Given the description of an element on the screen output the (x, y) to click on. 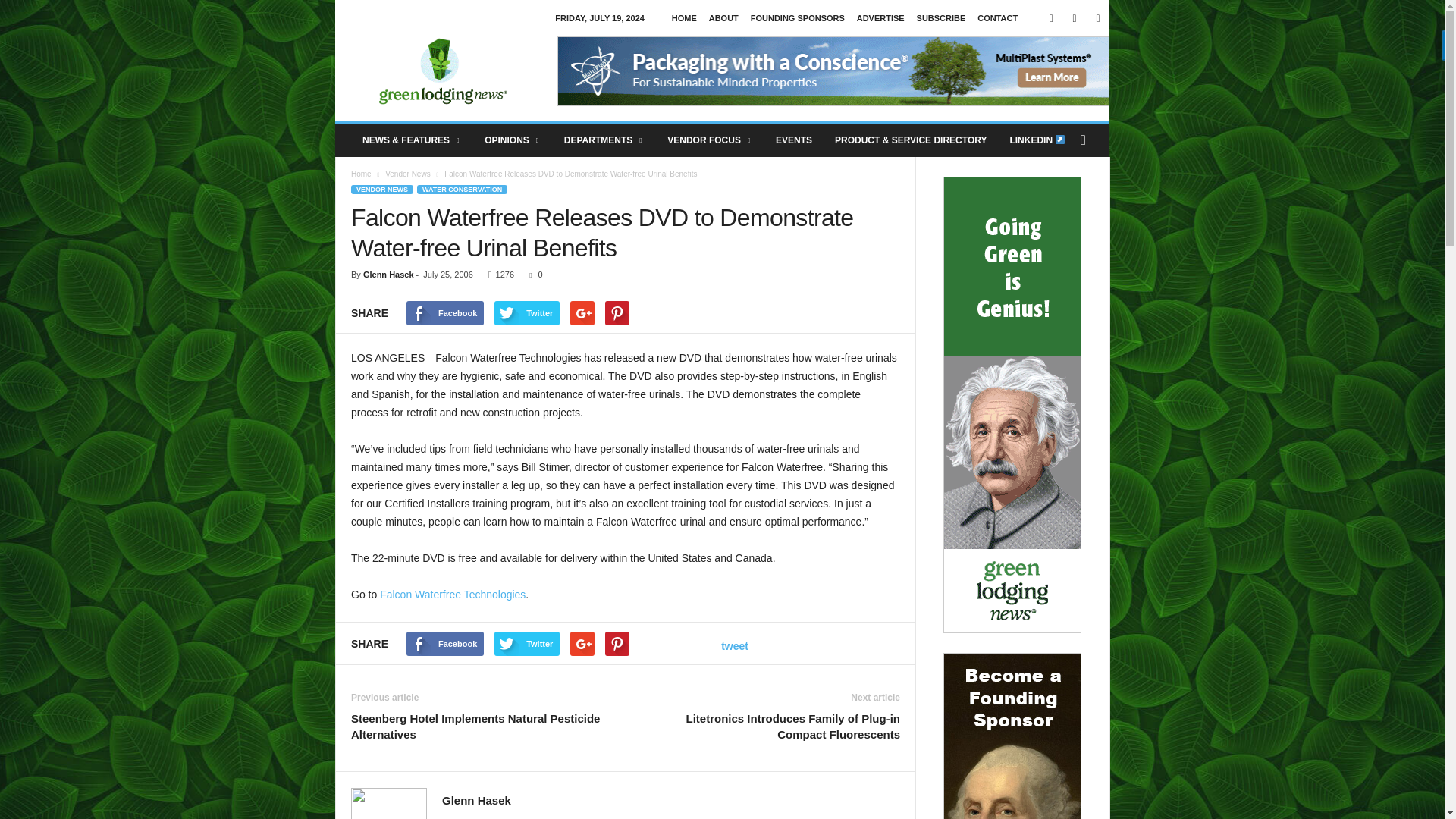
Facebook (1050, 18)
Linkedin (1074, 18)
Twitter (1097, 18)
View all posts in Vendor News (408, 173)
